Given the description of an element on the screen output the (x, y) to click on. 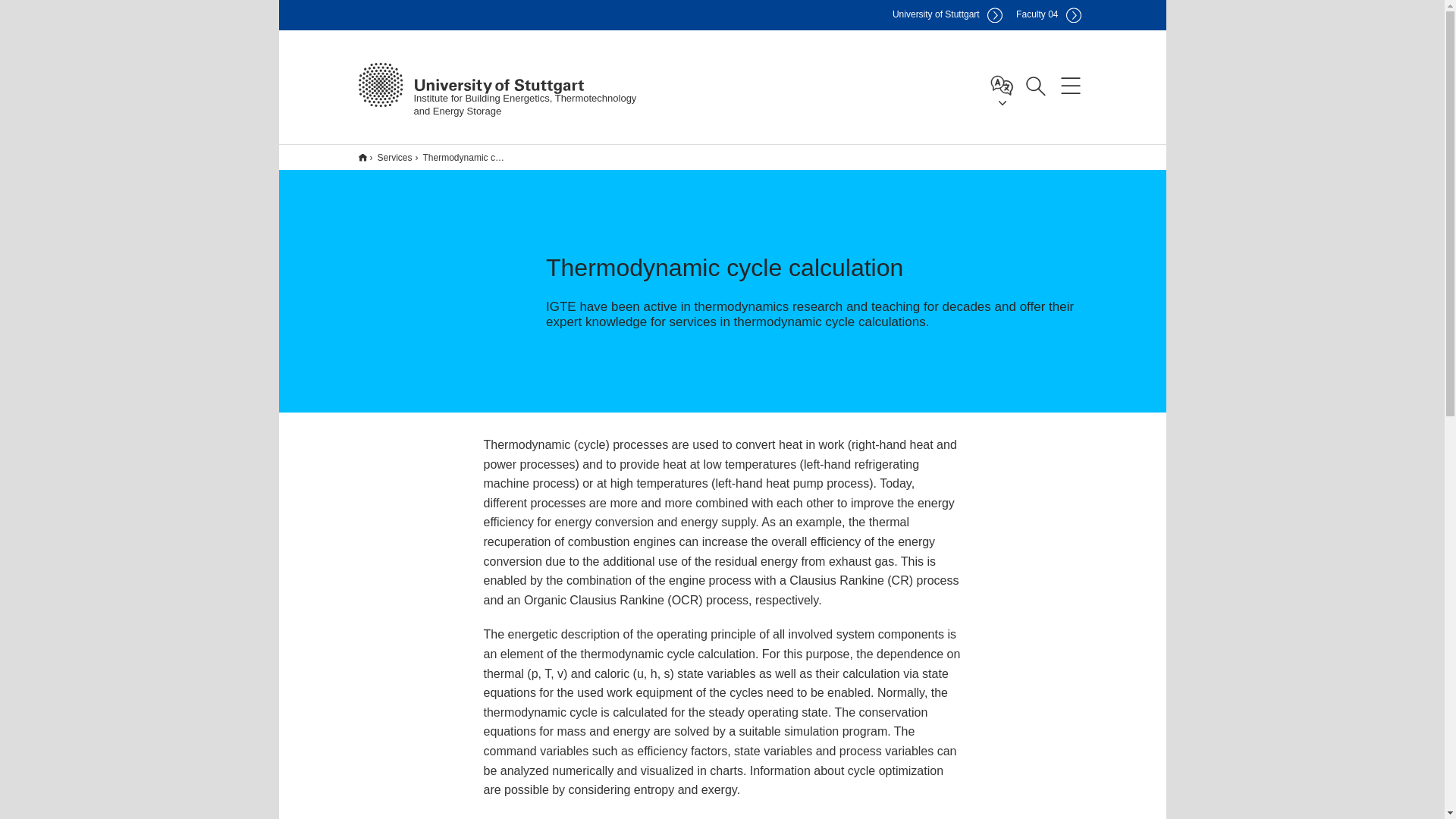
Search (1035, 84)
Thermodynamic cycle calculation (459, 156)
University of Stuttgart (947, 15)
Main navigation (1070, 84)
Thermodynamic cycle calculation (439, 156)
Faculty 04 (460, 156)
